Given the description of an element on the screen output the (x, y) to click on. 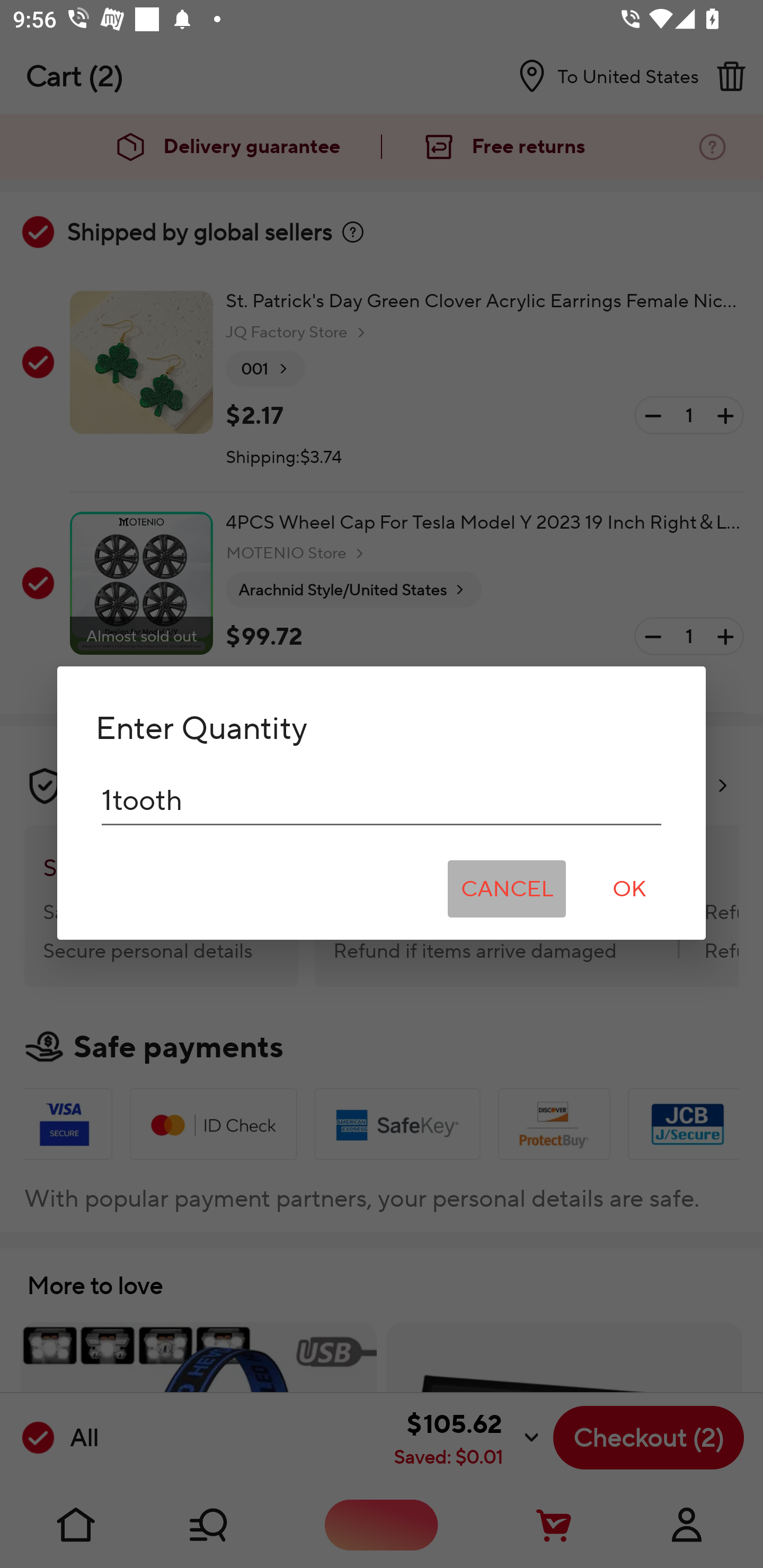
1tooth (381, 800)
CANCEL (506, 888)
OK (629, 888)
